Given the description of an element on the screen output the (x, y) to click on. 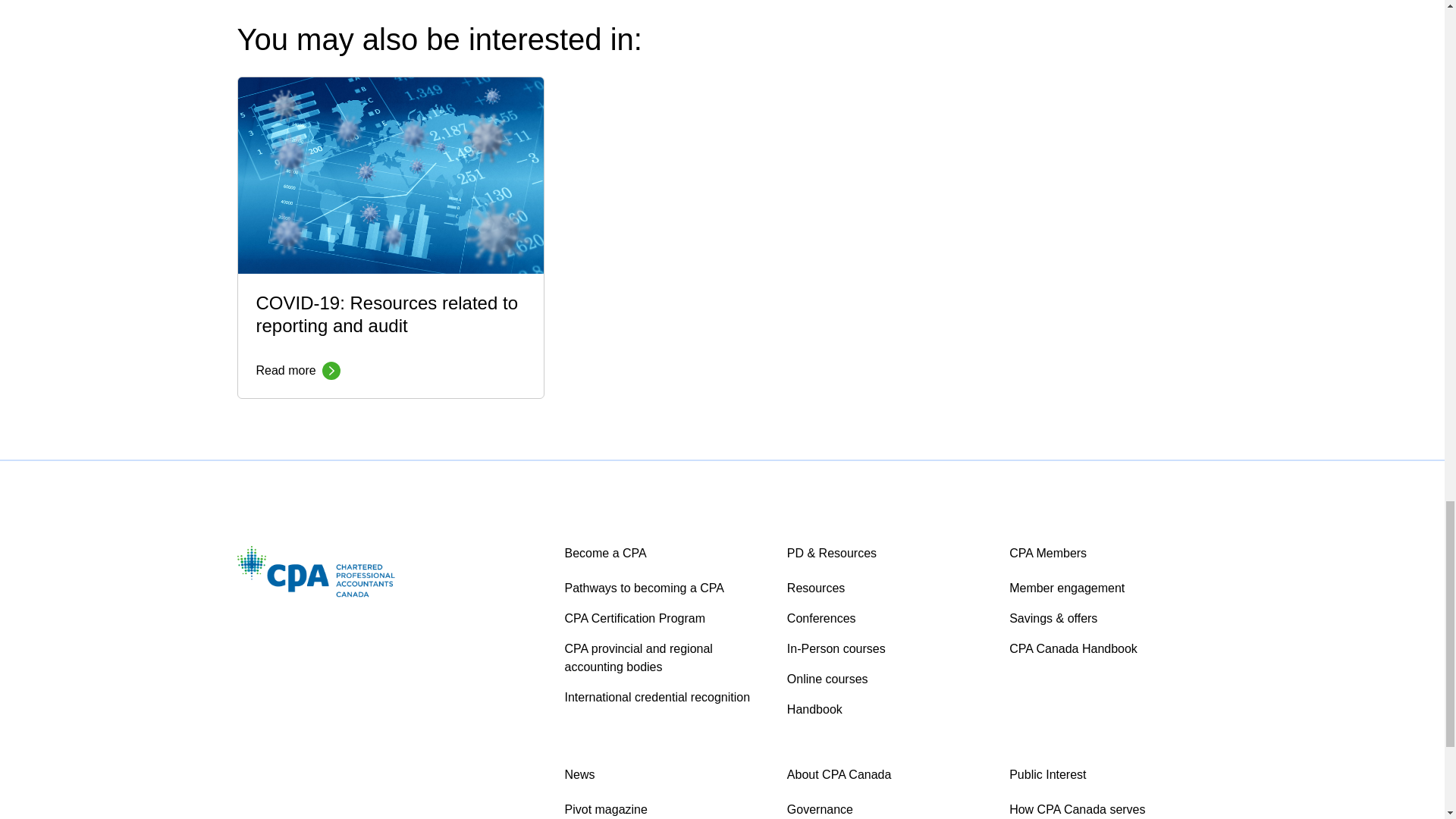
In-Person courses (886, 648)
Online courses (886, 679)
Pathways to becoming a CPA (389, 237)
CPA Certification Program (662, 588)
International credential recognition (662, 618)
Conferences (662, 697)
Become a CPA (886, 618)
Resources (605, 553)
CPA provincial and regional accounting bodies (886, 588)
